Given the description of an element on the screen output the (x, y) to click on. 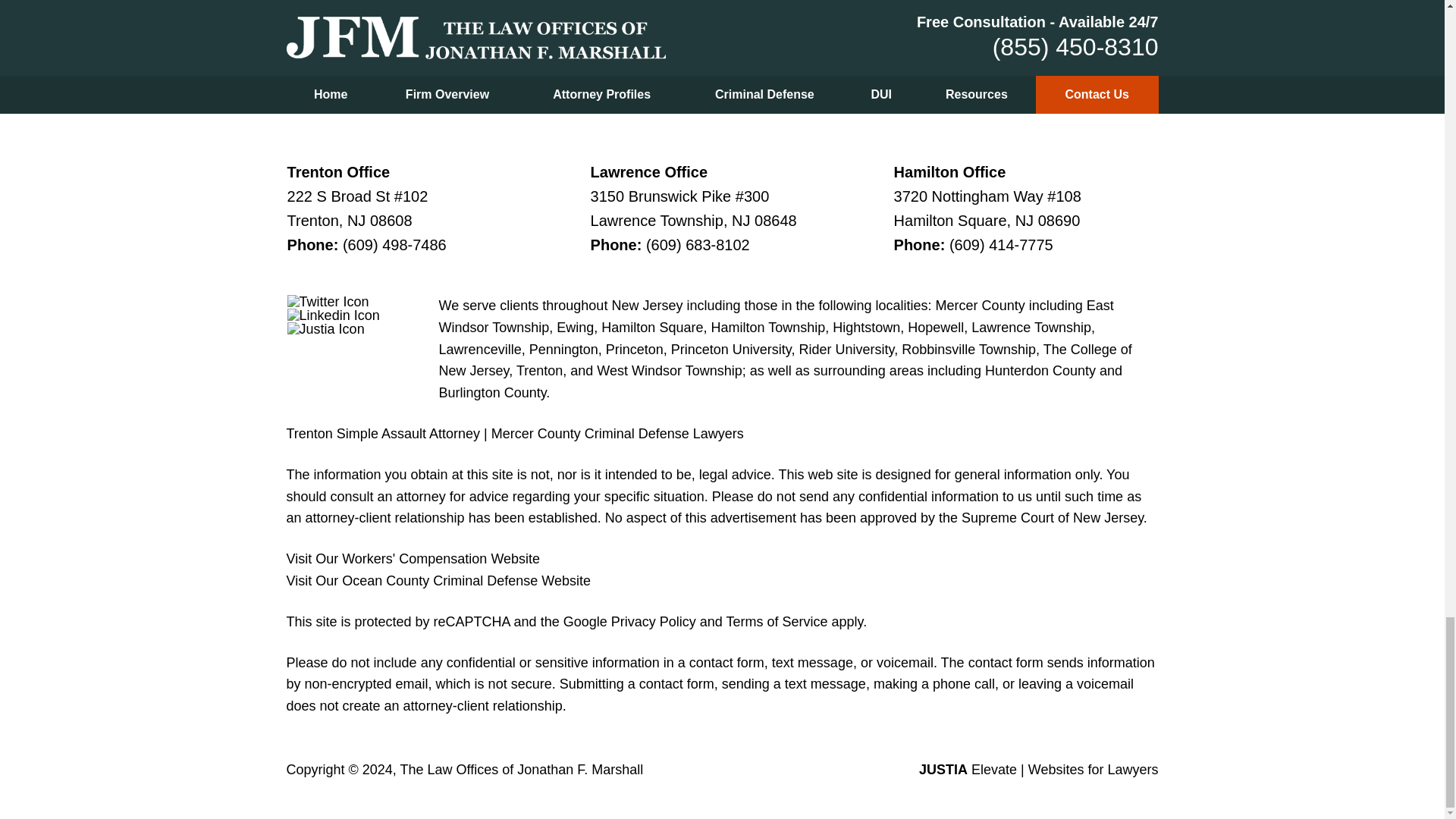
Twitter (327, 301)
Linkedin (333, 315)
Justia (325, 328)
